Given the description of an element on the screen output the (x, y) to click on. 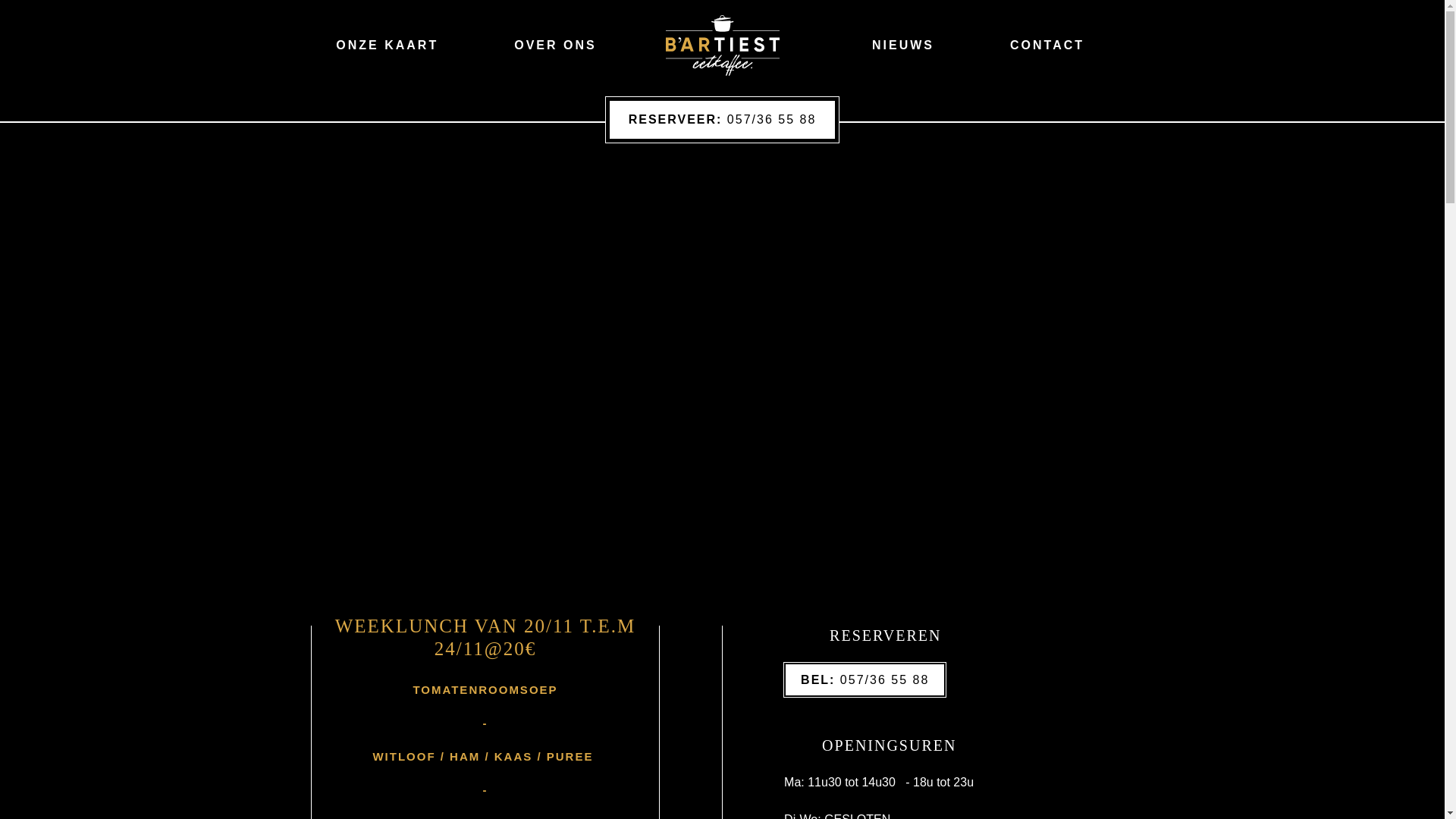
NIEUWS Element type: text (903, 44)
ONZE KAART Element type: text (386, 44)
RESERVEER: 057/36 55 88 Element type: text (722, 118)
Overslaan en naar de inhoud gaan Element type: text (0, 92)
OVER ONS Element type: text (555, 44)
Home Element type: hover (722, 45)
BEL: 057/36 55 88 Element type: text (864, 679)
CONTACT Element type: text (1047, 44)
